Given the description of an element on the screen output the (x, y) to click on. 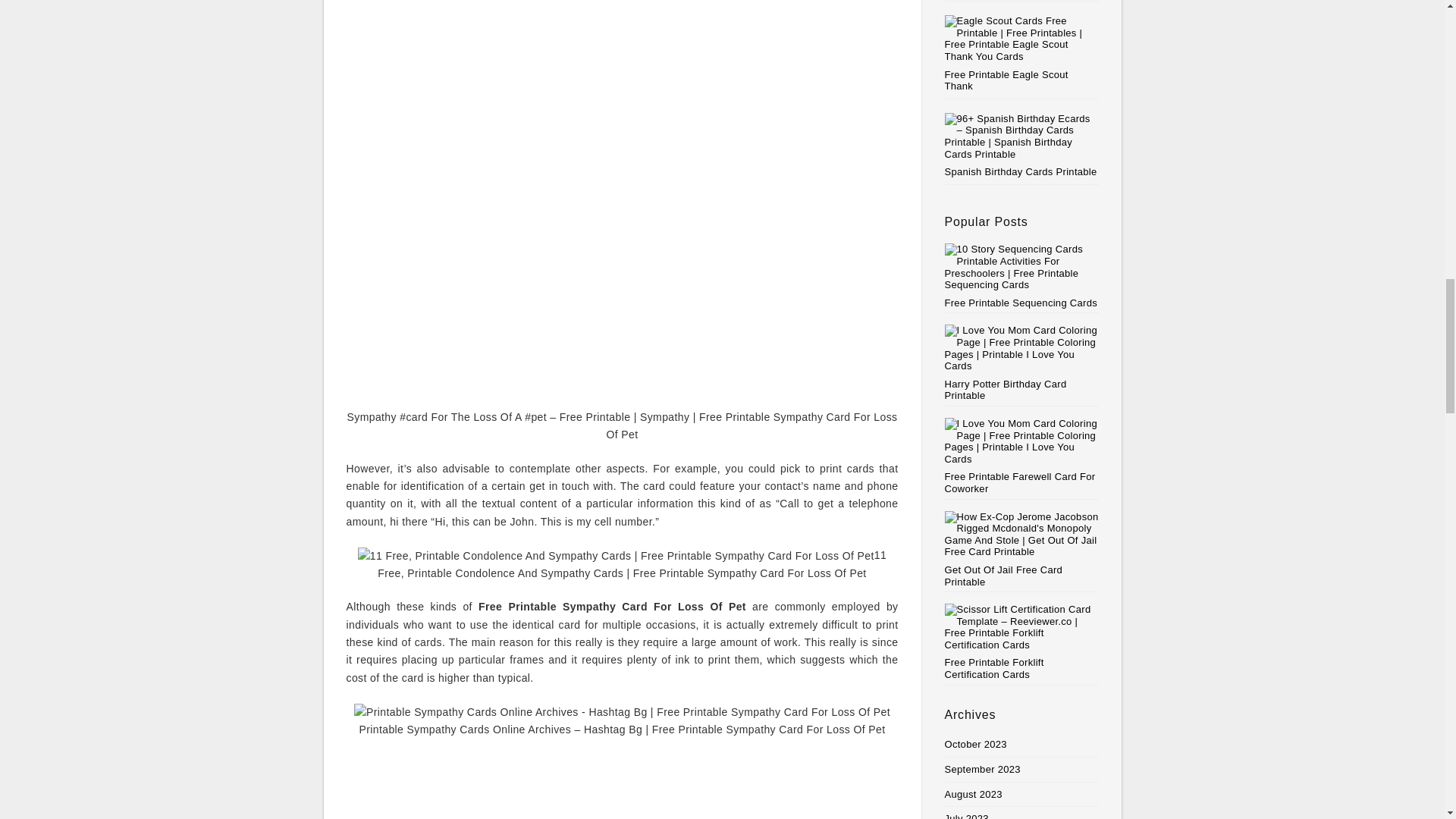
Free Printable Sequencing Cards (1021, 275)
Spanish Birthday Cards Printable (1020, 171)
Free Printable Eagle Scout Thank (1006, 80)
